Given the description of an element on the screen output the (x, y) to click on. 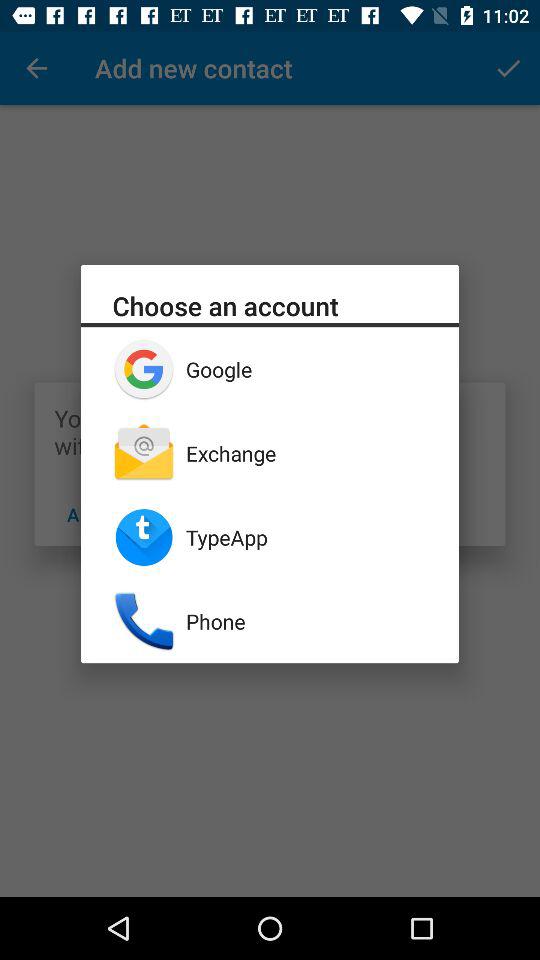
jump to phone app (306, 621)
